Given the description of an element on the screen output the (x, y) to click on. 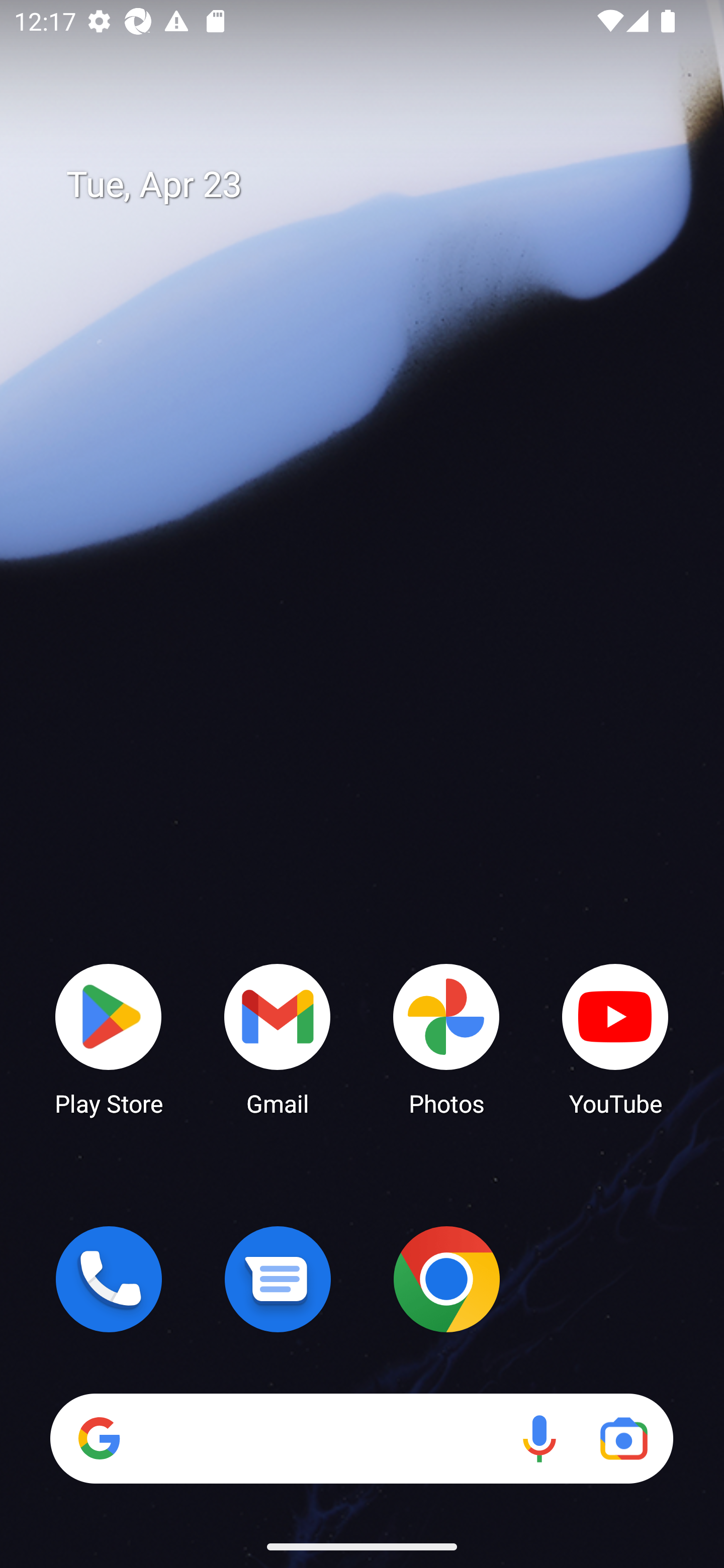
Tue, Apr 23 (375, 184)
Play Store (108, 1038)
Gmail (277, 1038)
Photos (445, 1038)
YouTube (615, 1038)
Phone (108, 1279)
Messages (277, 1279)
Chrome (446, 1279)
Search Voice search Google Lens (361, 1438)
Voice search (539, 1438)
Google Lens (623, 1438)
